Given the description of an element on the screen output the (x, y) to click on. 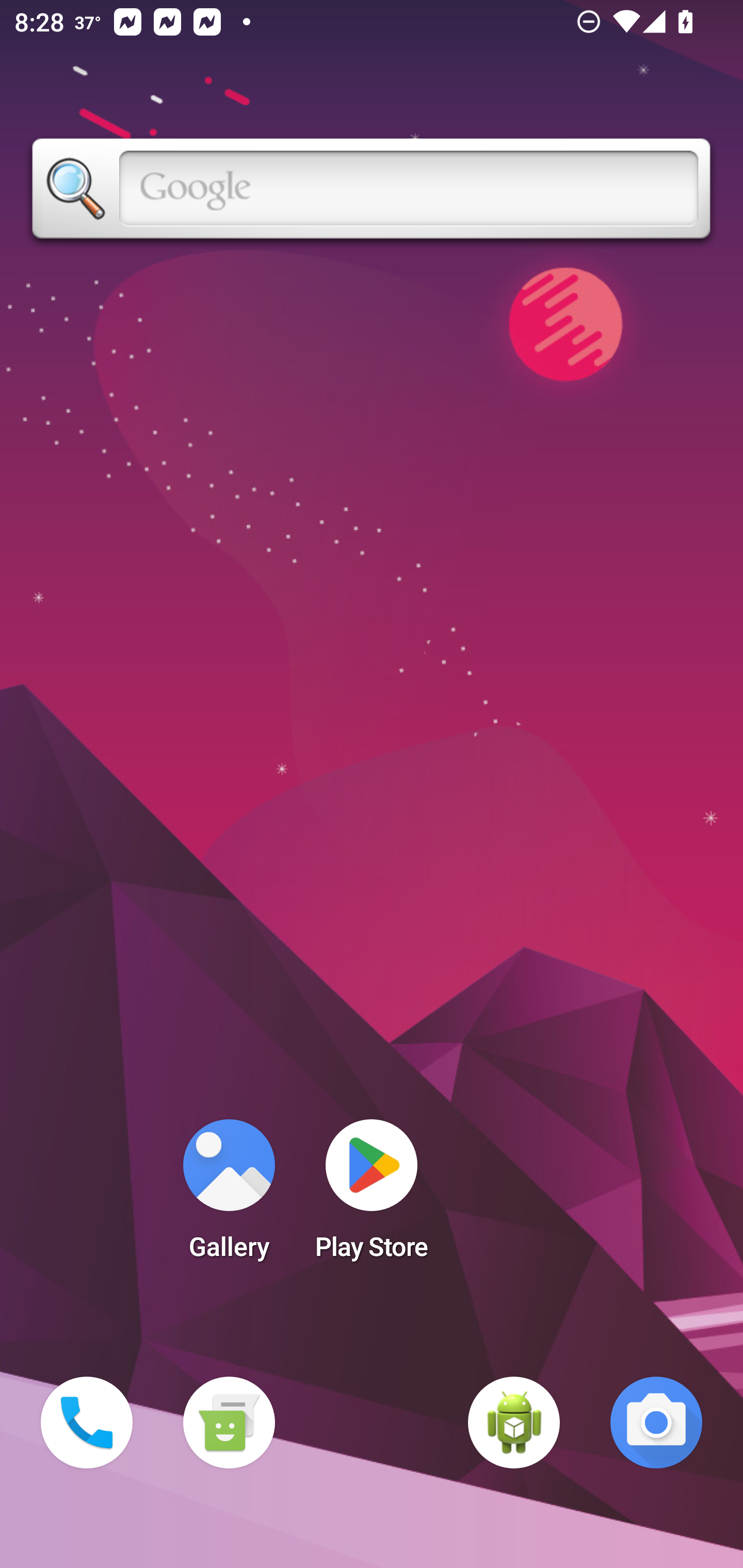
Gallery (228, 1195)
Play Store (371, 1195)
Phone (86, 1422)
Messaging (228, 1422)
WebView Browser Tester (513, 1422)
Camera (656, 1422)
